Given the description of an element on the screen output the (x, y) to click on. 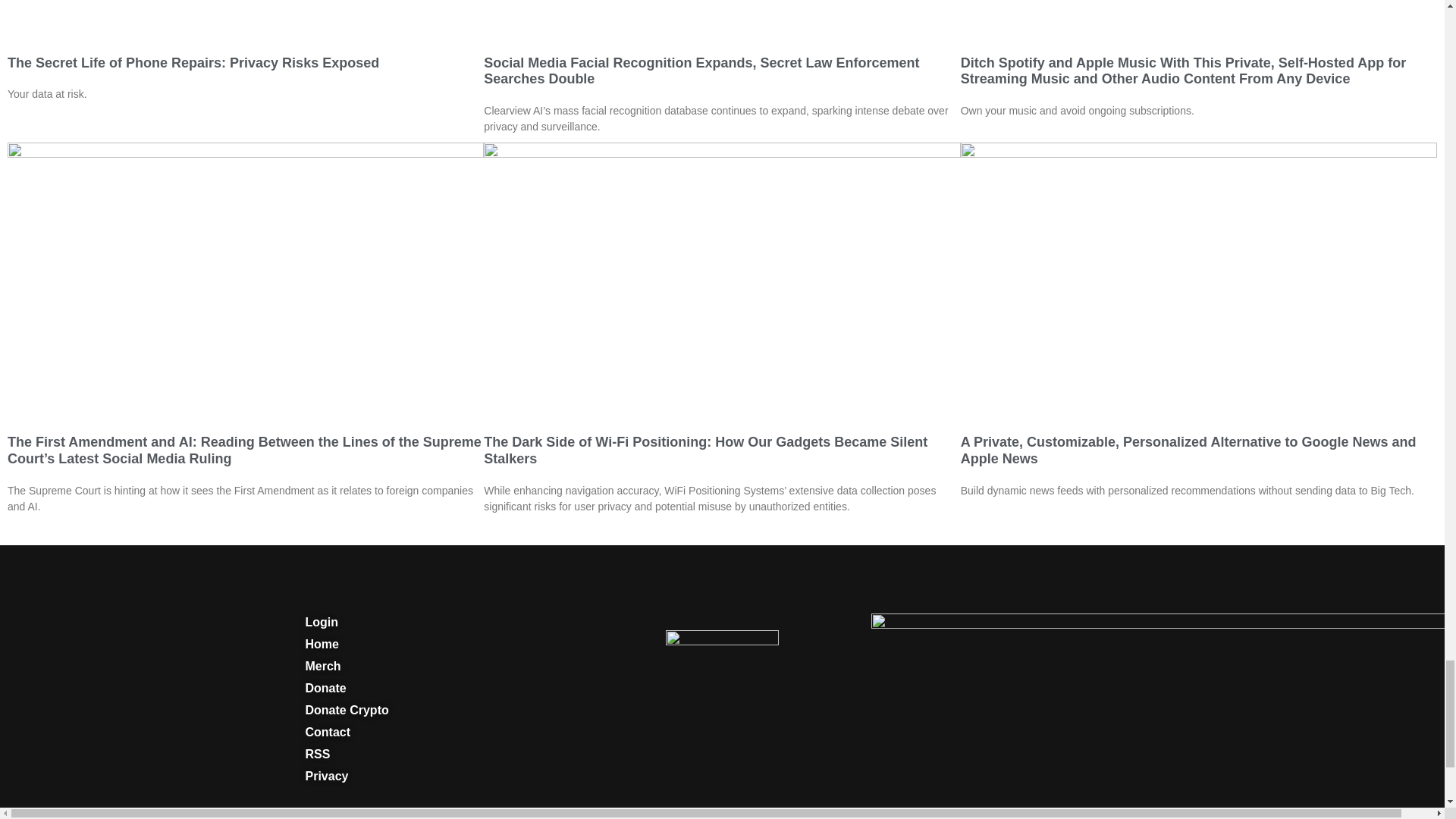
The Secret Life of Phone Repairs: Privacy Risks Exposed (192, 62)
